Given the description of an element on the screen output the (x, y) to click on. 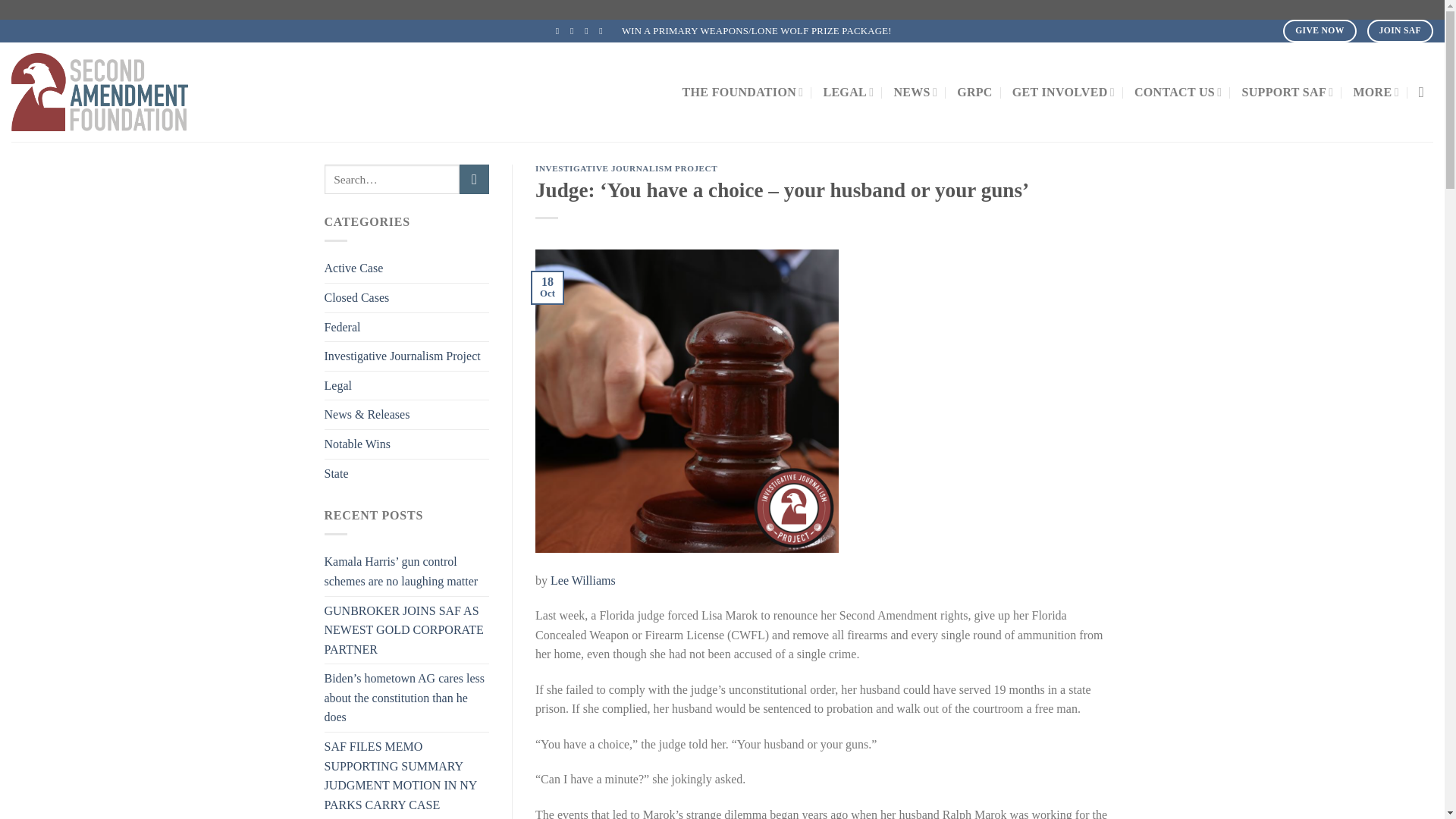
SUPPORT SAF (1287, 91)
GET INVOLVED (1063, 91)
GIVE NOW (1318, 30)
LEGAL (847, 91)
CONTACT US (1178, 91)
Second Amendment Foundation (140, 91)
GRPC (974, 92)
THE FOUNDATION (742, 91)
NEWS (915, 91)
JOIN SAF (1399, 30)
